Given the description of an element on the screen output the (x, y) to click on. 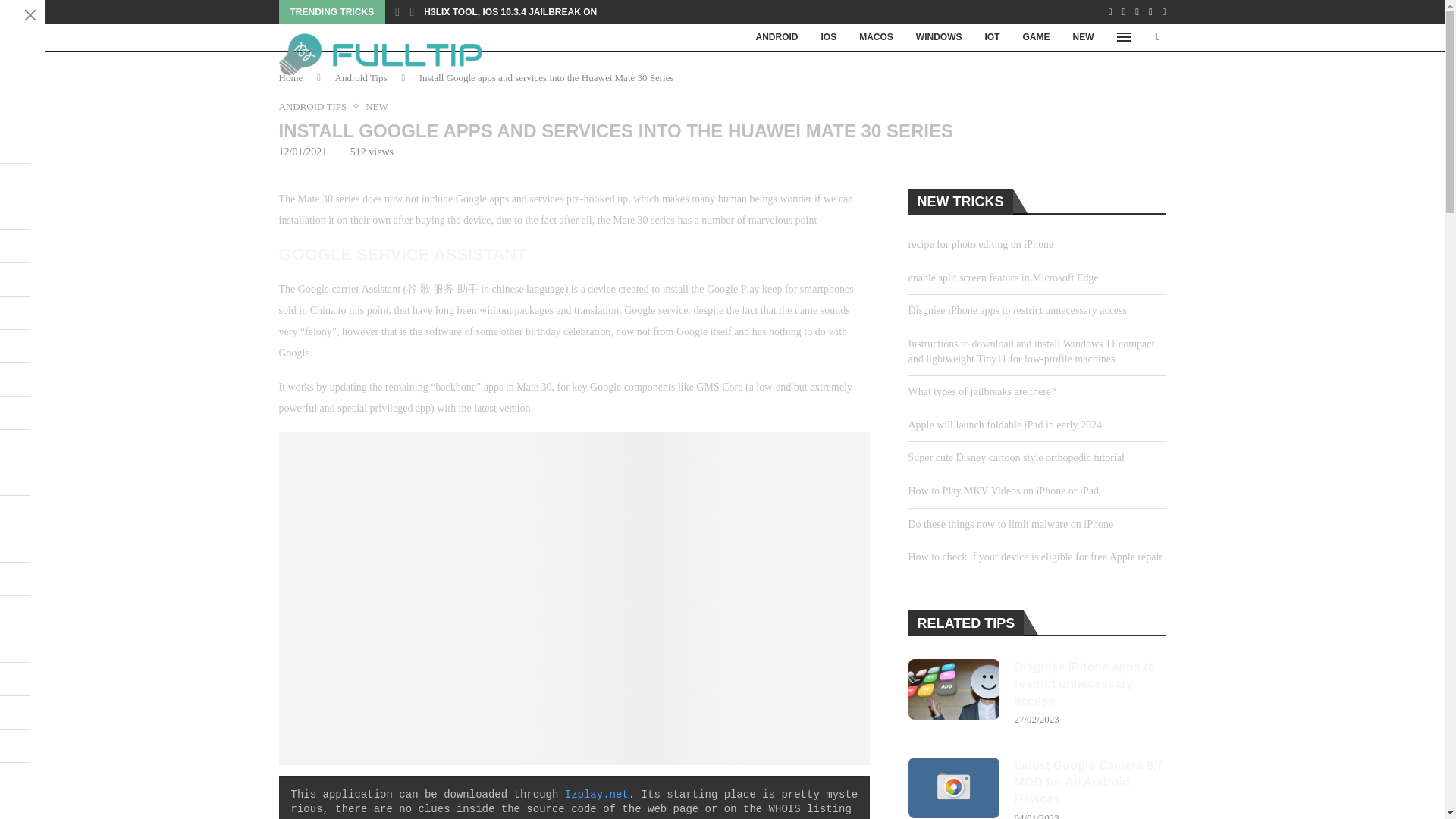
Latest Google Camera 8.7 MOD for All Android Devices (953, 787)
GAME (1036, 37)
ANDROID (776, 37)
IOS (828, 37)
Latest Google Camera 8.7 MOD for All Android Devices (1090, 782)
Izplay.net (596, 794)
Home (290, 77)
WINDOWS (939, 37)
IOT (992, 37)
MACOS (875, 37)
